Given the description of an element on the screen output the (x, y) to click on. 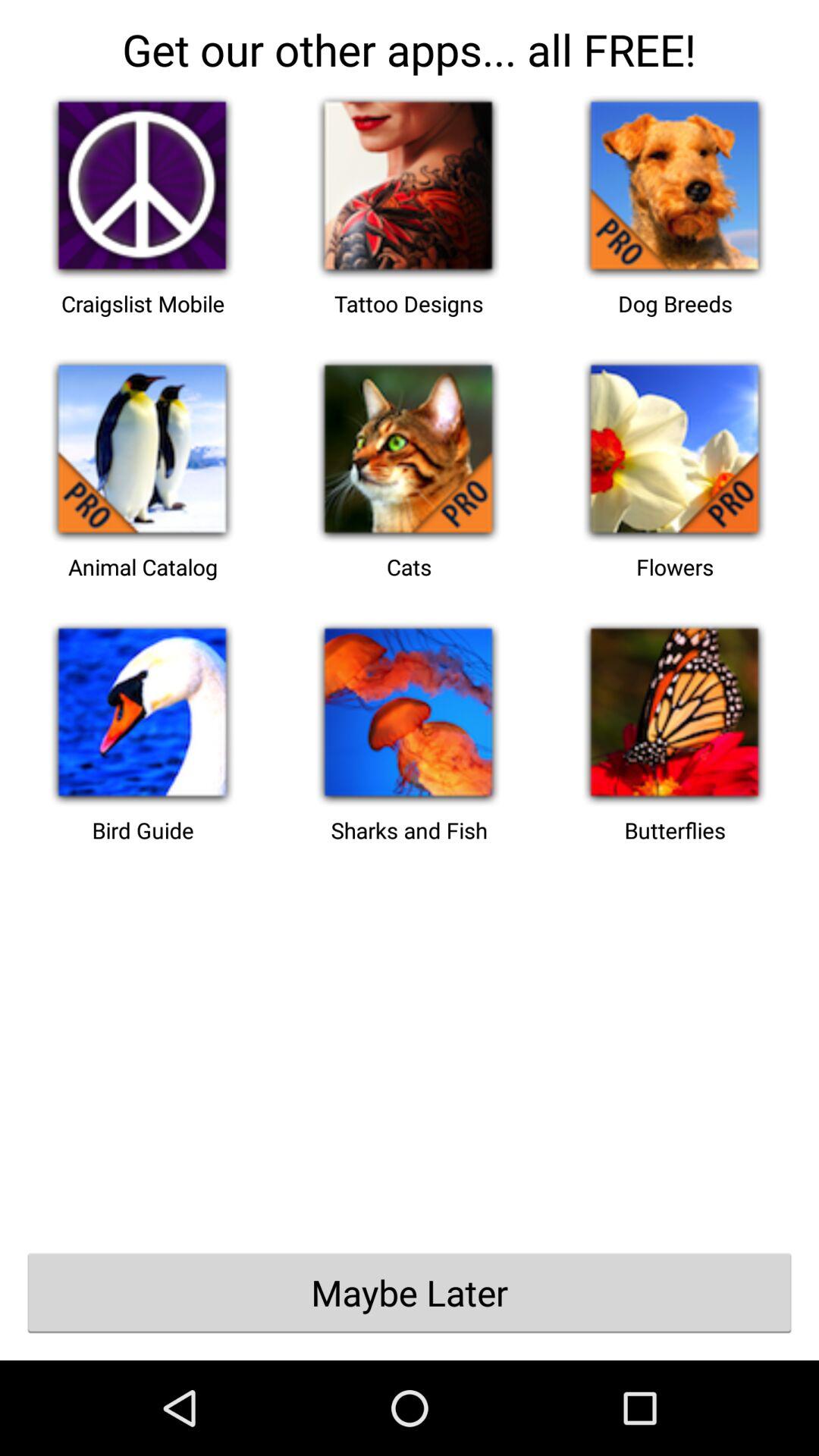
flip to maybe later item (409, 1292)
